Given the description of an element on the screen output the (x, y) to click on. 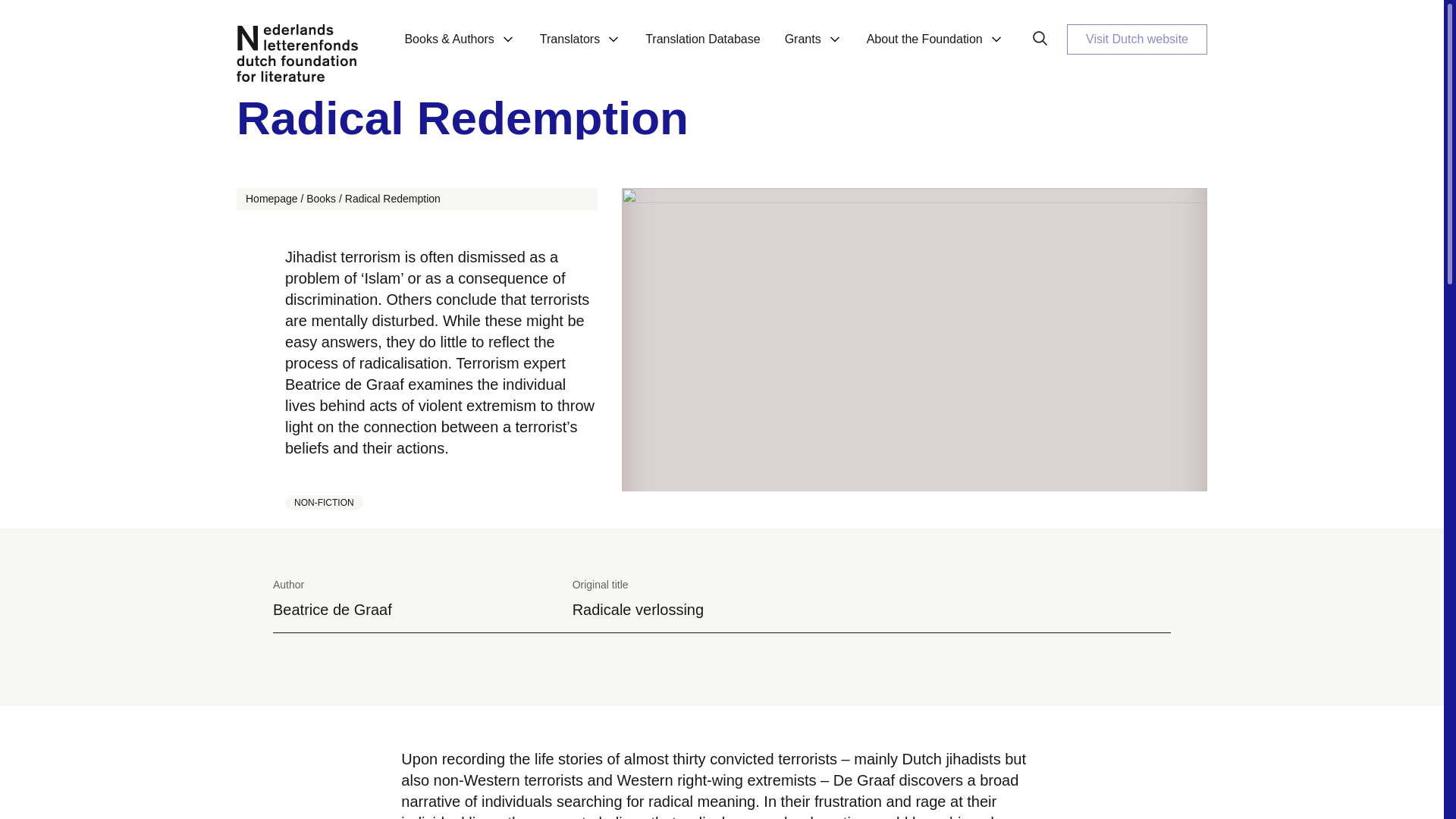
Translation Database (702, 48)
Homepage (272, 198)
Radical Redemption (393, 198)
Books (320, 198)
Radical Redemption (721, 118)
Translators (580, 48)
About the Foundation (935, 48)
Grants (813, 48)
Visit Dutch website (1137, 39)
Visit Dutch website (1137, 39)
